Given the description of an element on the screen output the (x, y) to click on. 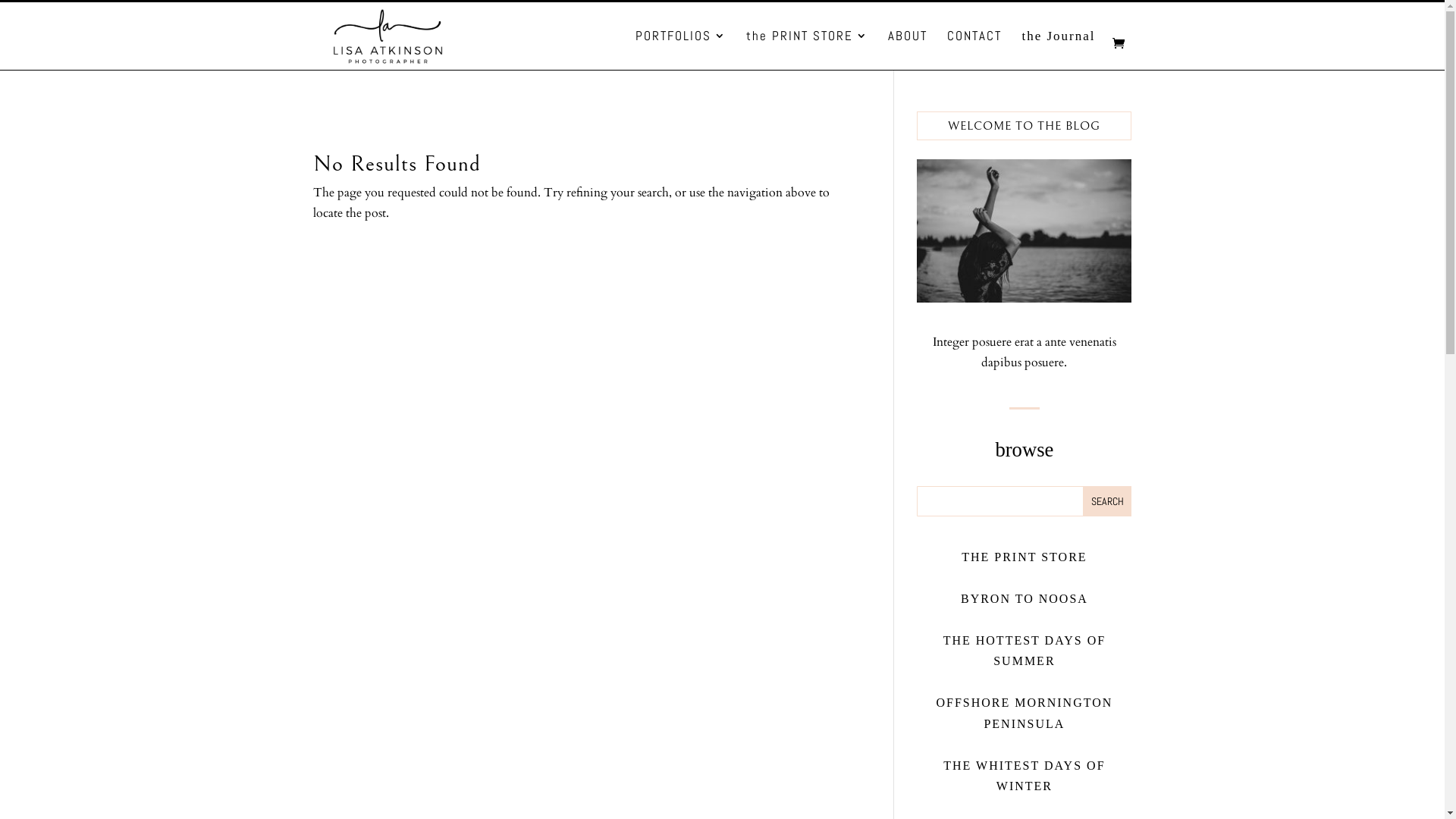
the PRINT STORE Element type: text (807, 49)
PORTFOLIOS Element type: text (680, 49)
THE WHITEST DAYS OF WINTER Element type: text (1023, 775)
THE HOTTEST DAYS OF SUMMER Element type: text (1024, 650)
BYRON TO NOOSA Element type: text (1024, 598)
OFFSHORE MORNINGTON PENINSULA Element type: text (1023, 712)
Search Element type: text (1107, 501)
THE PRINT STORE Element type: text (1023, 556)
the Journal Element type: text (1058, 50)
ABOUT Element type: text (907, 49)
CONTACT Element type: text (974, 49)
